Given the description of an element on the screen output the (x, y) to click on. 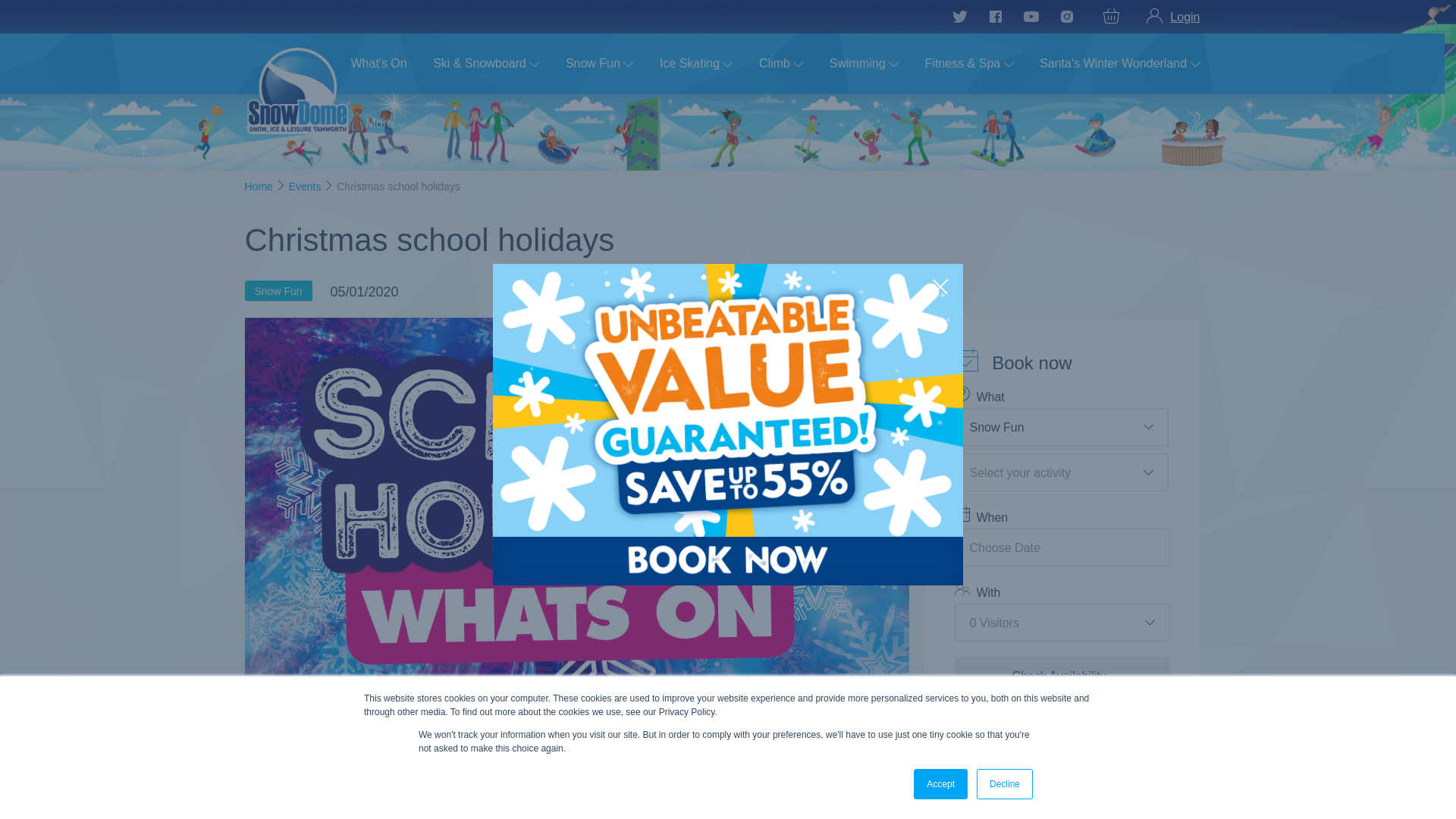
Login (1173, 16)
Ice Skating (595, 769)
Tobogganing (330, 769)
Decline (1004, 784)
gplus (895, 293)
Climb (522, 784)
Accept (941, 784)
Twitter (847, 293)
What's On (378, 62)
Facebook (870, 293)
